Given the description of an element on the screen output the (x, y) to click on. 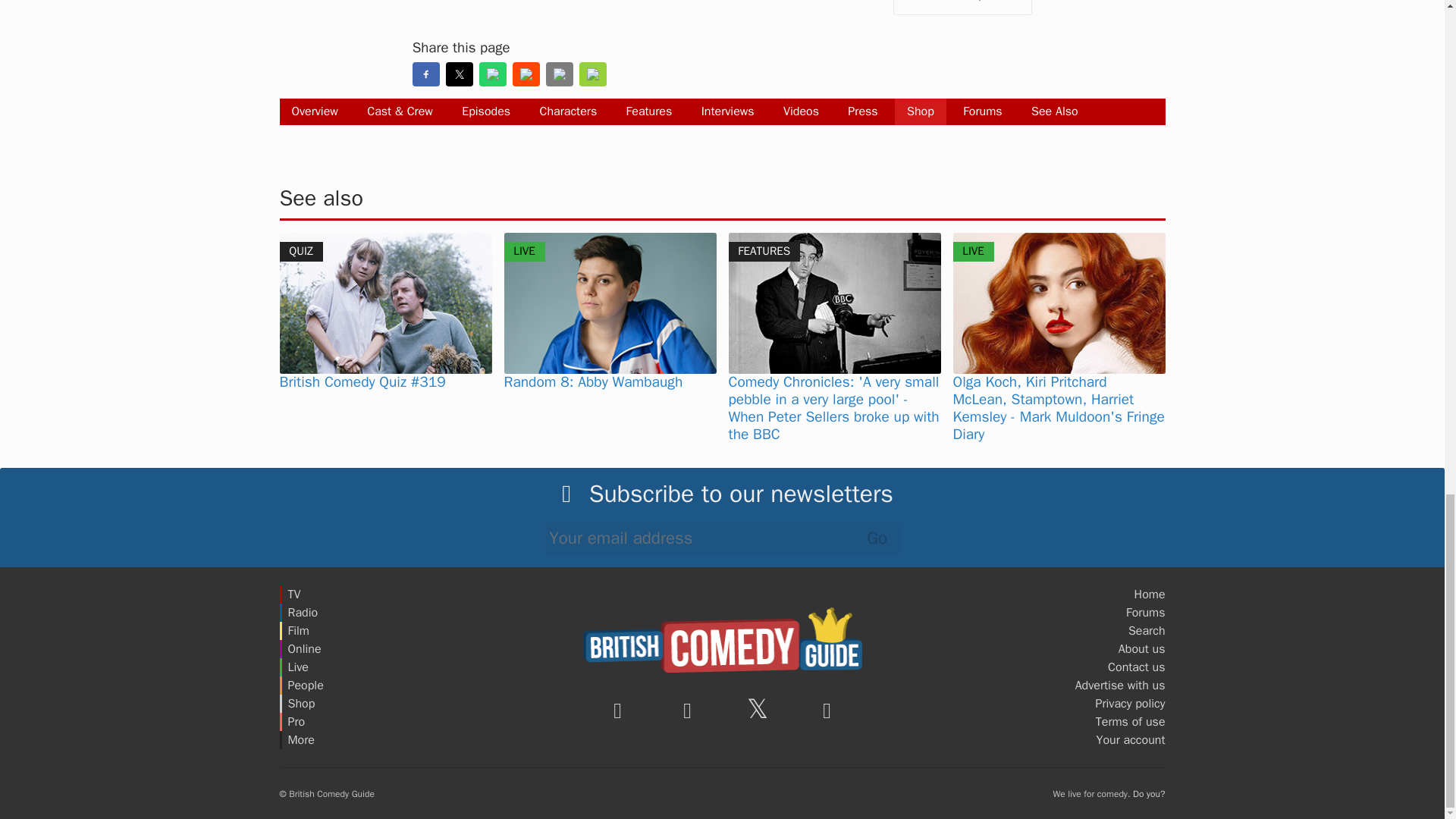
Abby Wambaugh. Credit: Marie Hald (609, 303)
Peter Sellers: A State Of Comic Ecstasy. Peter Sellers (834, 303)
Hannah Platt (1058, 303)
